Given the description of an element on the screen output the (x, y) to click on. 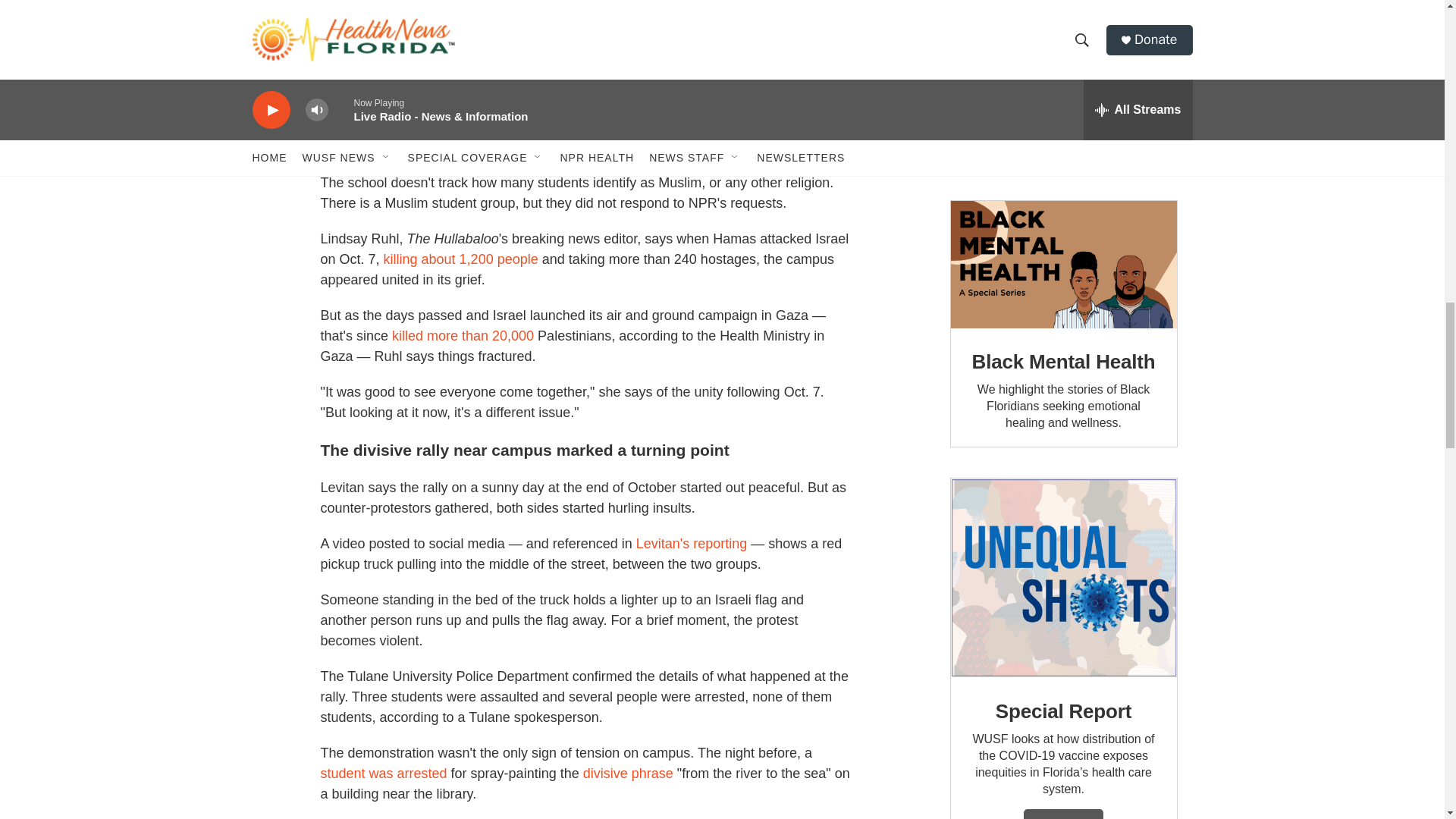
3rd party ad content (1062, 84)
